Given the description of an element on the screen output the (x, y) to click on. 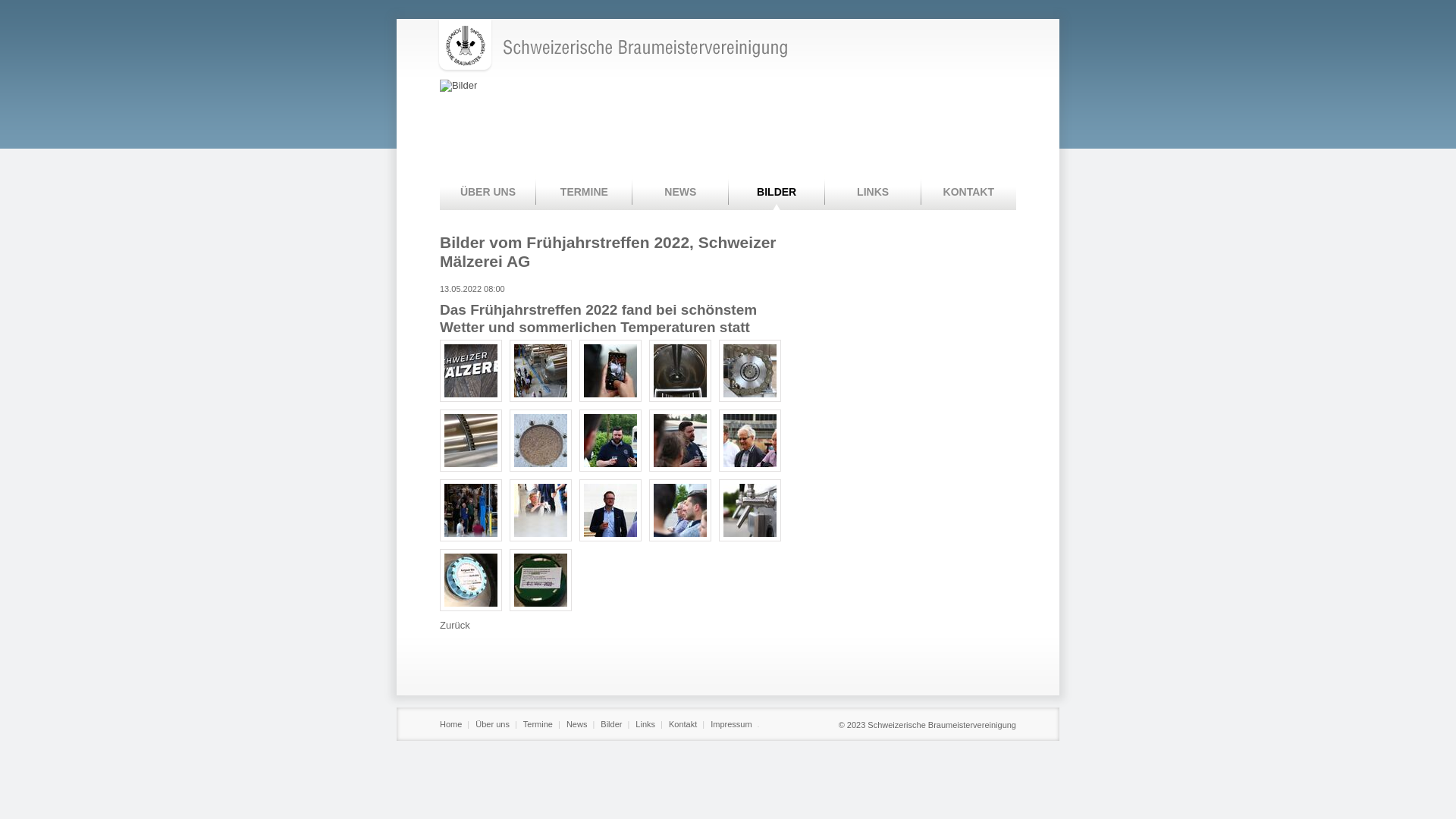
TERMINE Element type: text (584, 192)
Links Element type: text (645, 723)
KONTAKT Element type: text (968, 192)
Kontakt Element type: text (683, 723)
Bilder Element type: text (611, 723)
BILDER Element type: text (776, 192)
News Element type: text (577, 723)
LINKS Element type: text (873, 192)
Impressum Element type: text (731, 723)
Termine Element type: text (538, 723)
Home Element type: text (451, 723)
NEWS Element type: text (680, 192)
